Given the description of an element on the screen output the (x, y) to click on. 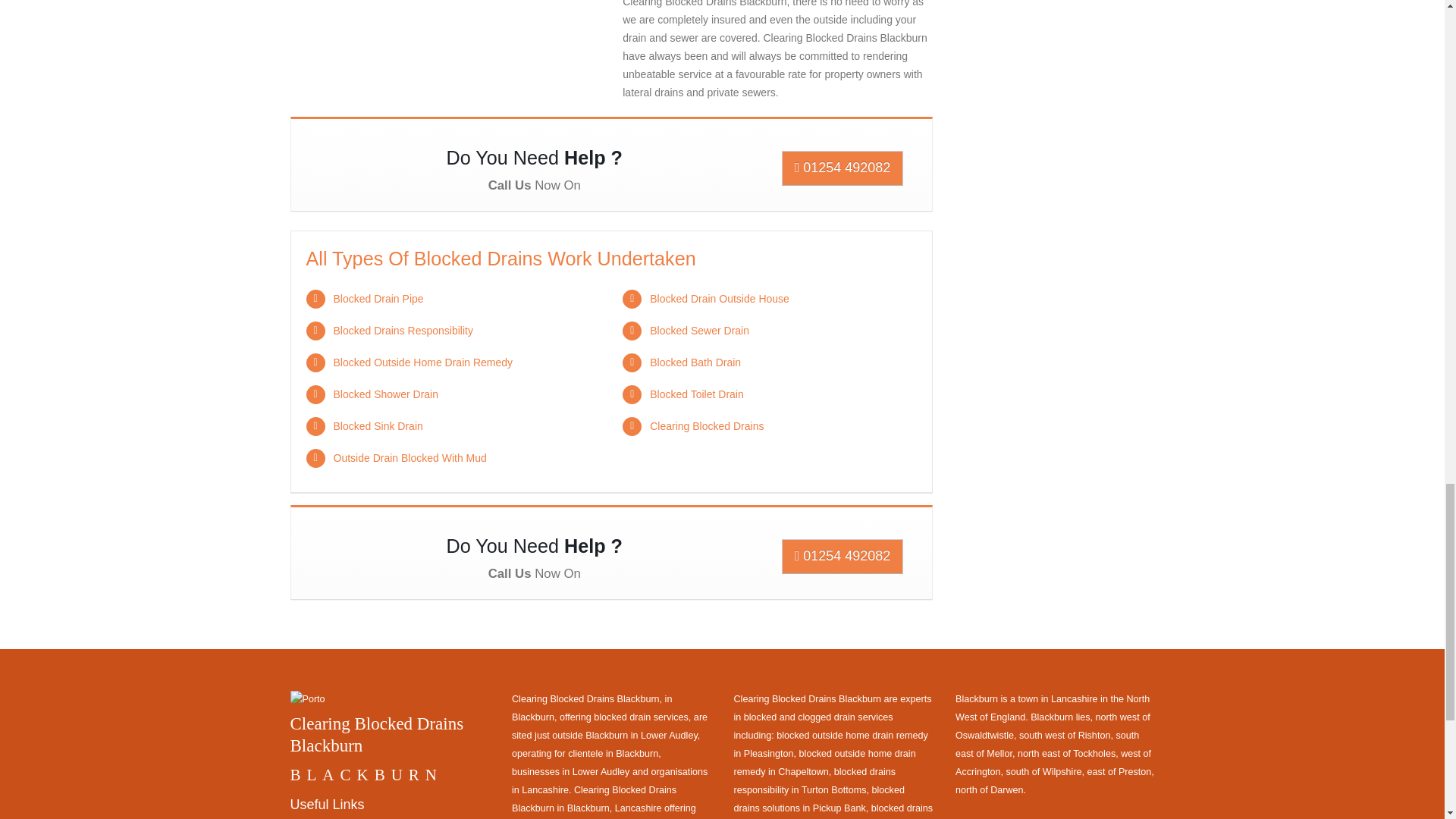
Blocked Toilet Drain (695, 394)
Outside Drain Blocked With Mud (409, 458)
Blocked Drain Outside House (719, 298)
Blocked Bath Drain (695, 362)
01254 492082 (842, 167)
Blocked Shower Drain (386, 394)
01254 492082 (842, 556)
Blocked Drains Responsibility (403, 330)
Blocked Sink Drain (378, 426)
Clearing Blocked Drains (705, 426)
